Given the description of an element on the screen output the (x, y) to click on. 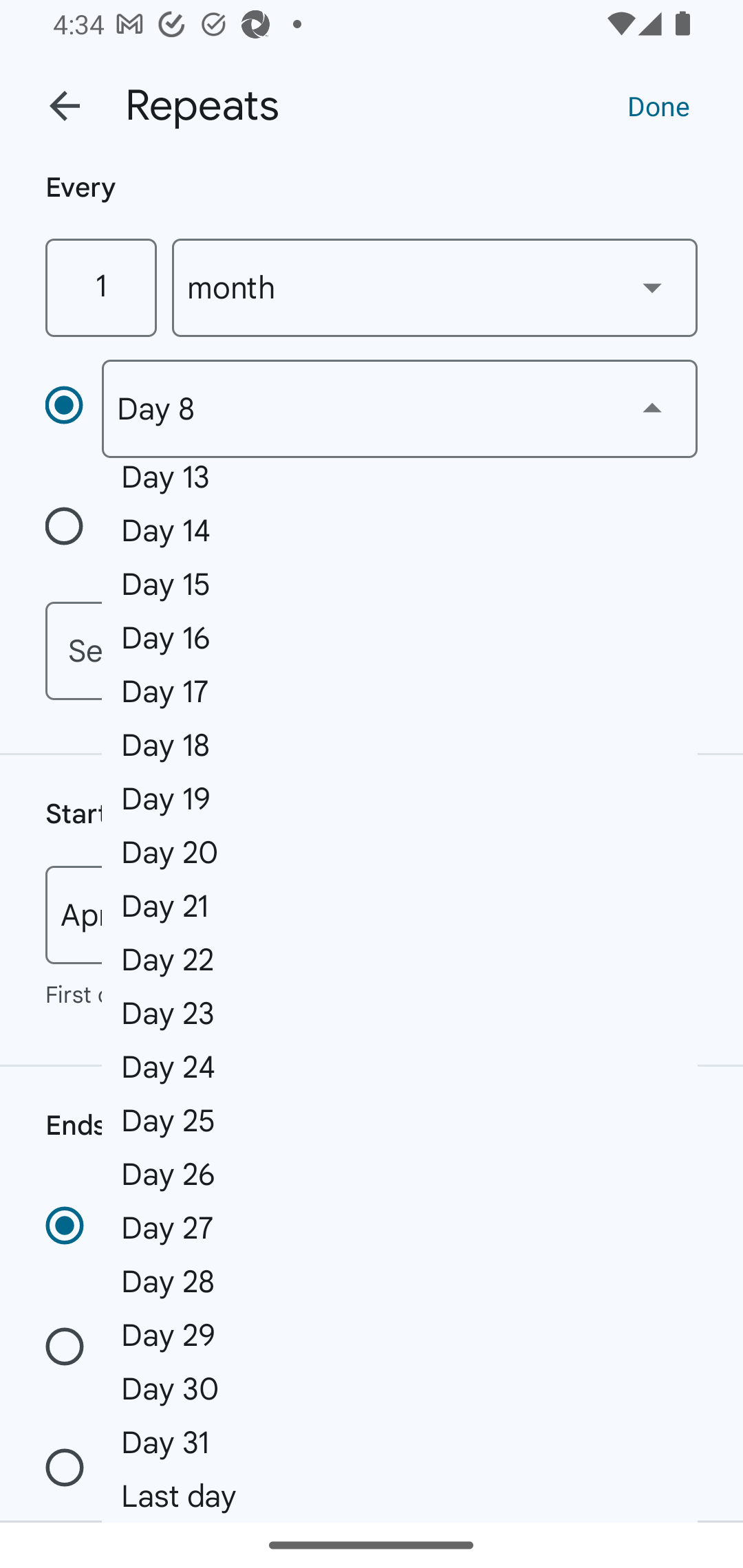
Back (64, 105)
Done (658, 105)
1 (100, 287)
month (434, 287)
Show dropdown menu (652, 286)
Day 8 (399, 408)
Show dropdown menu (652, 408)
Repeat monthly on a specific day of the month (73, 408)
Repeat monthly on a specific weekday (73, 529)
